Given the description of an element on the screen output the (x, y) to click on. 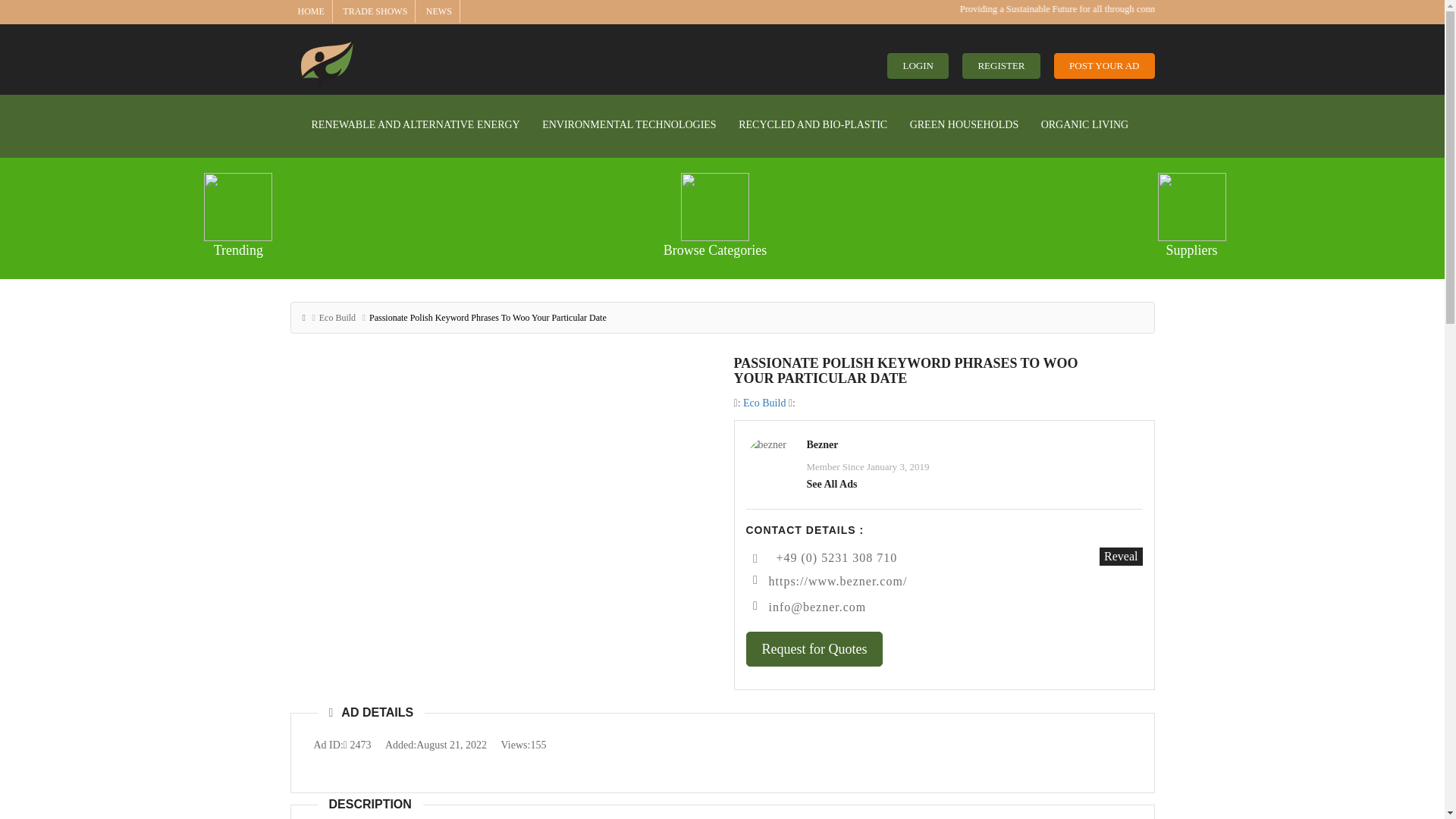
Green Households (964, 124)
REGISTER (1000, 66)
Renewable and Alternative Energy (415, 124)
TRADE SHOWS (374, 10)
Recycled and BIO-Plastic (812, 124)
View all posts in Eco Build (764, 402)
Organic Living (1084, 124)
HOME (310, 10)
NEWS (438, 10)
Environmental Technologies (628, 124)
